Given the description of an element on the screen output the (x, y) to click on. 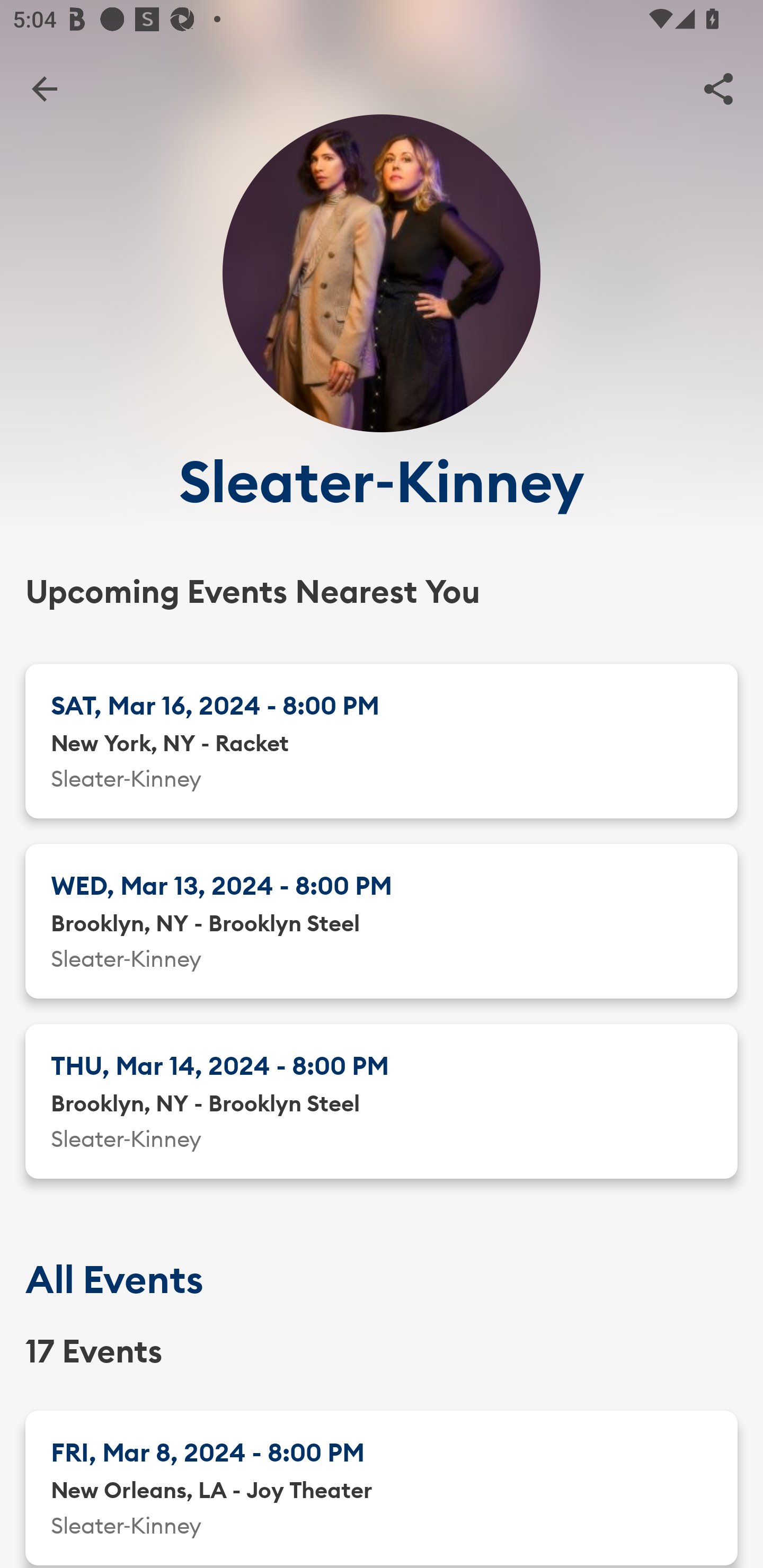
BackButton (44, 88)
Share (718, 88)
